Given the description of an element on the screen output the (x, y) to click on. 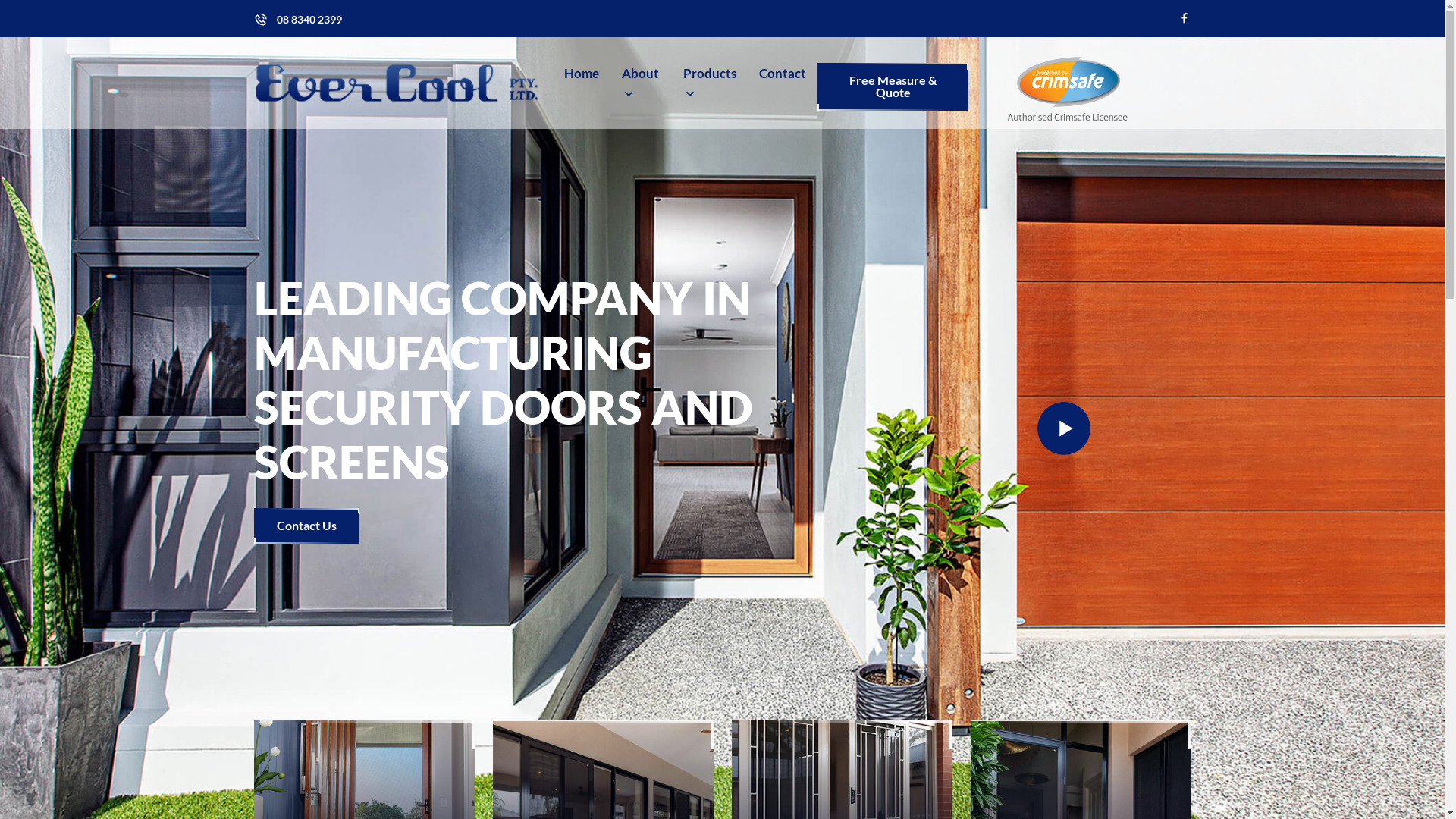
crimsafe Element type: hover (1066, 87)
Home Element type: text (581, 73)
Free Measure & Quote Element type: text (892, 85)
About Element type: text (640, 82)
Contact Element type: text (782, 73)
Contact Us Element type: text (305, 525)
Products Element type: text (709, 82)
08 8340 2399 Element type: text (308, 18)
